Given the description of an element on the screen output the (x, y) to click on. 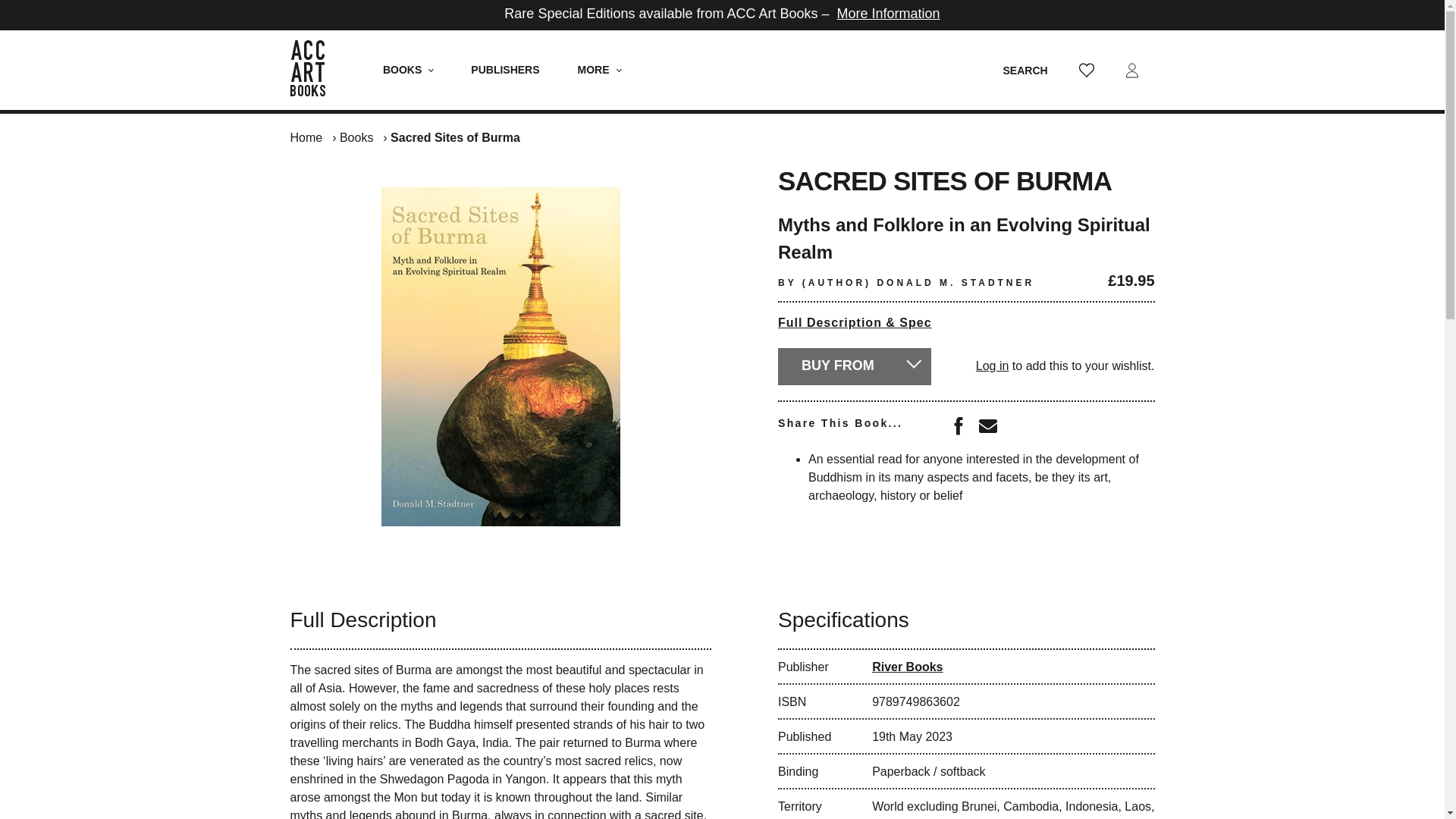
PUBLISHERS (504, 69)
BOOKS (407, 69)
More Information (888, 13)
ACC Art Books UK (315, 69)
MORE (599, 69)
